Given the description of an element on the screen output the (x, y) to click on. 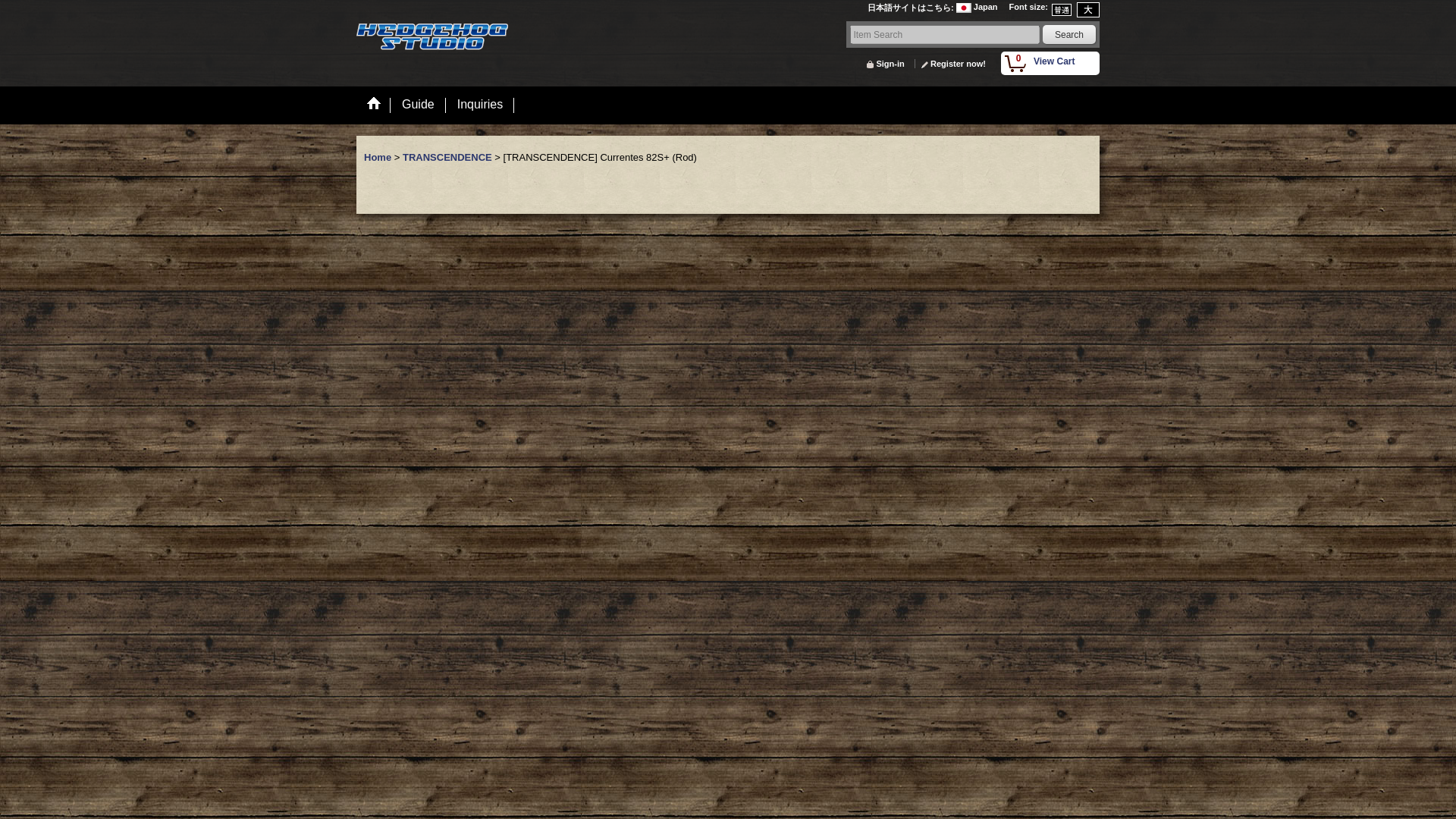
TRANSCENDENCE (449, 156)
Home (379, 156)
Guide (417, 106)
Japan (976, 9)
Register now! (951, 62)
Sign-in (884, 62)
Search (1069, 34)
Search (1069, 34)
Search (1050, 63)
